Given the description of an element on the screen output the (x, y) to click on. 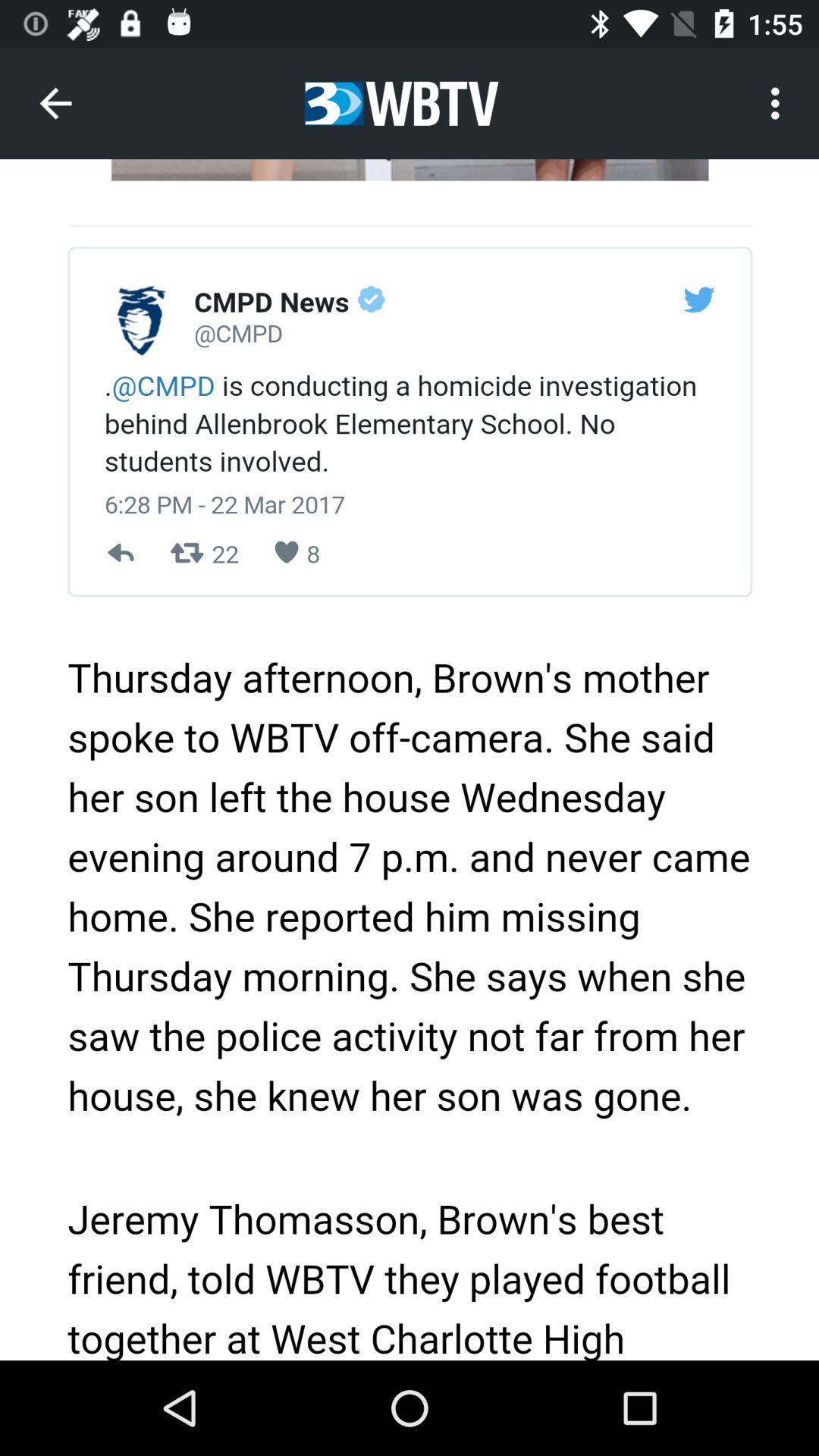
file option (409, 759)
